Given the description of an element on the screen output the (x, y) to click on. 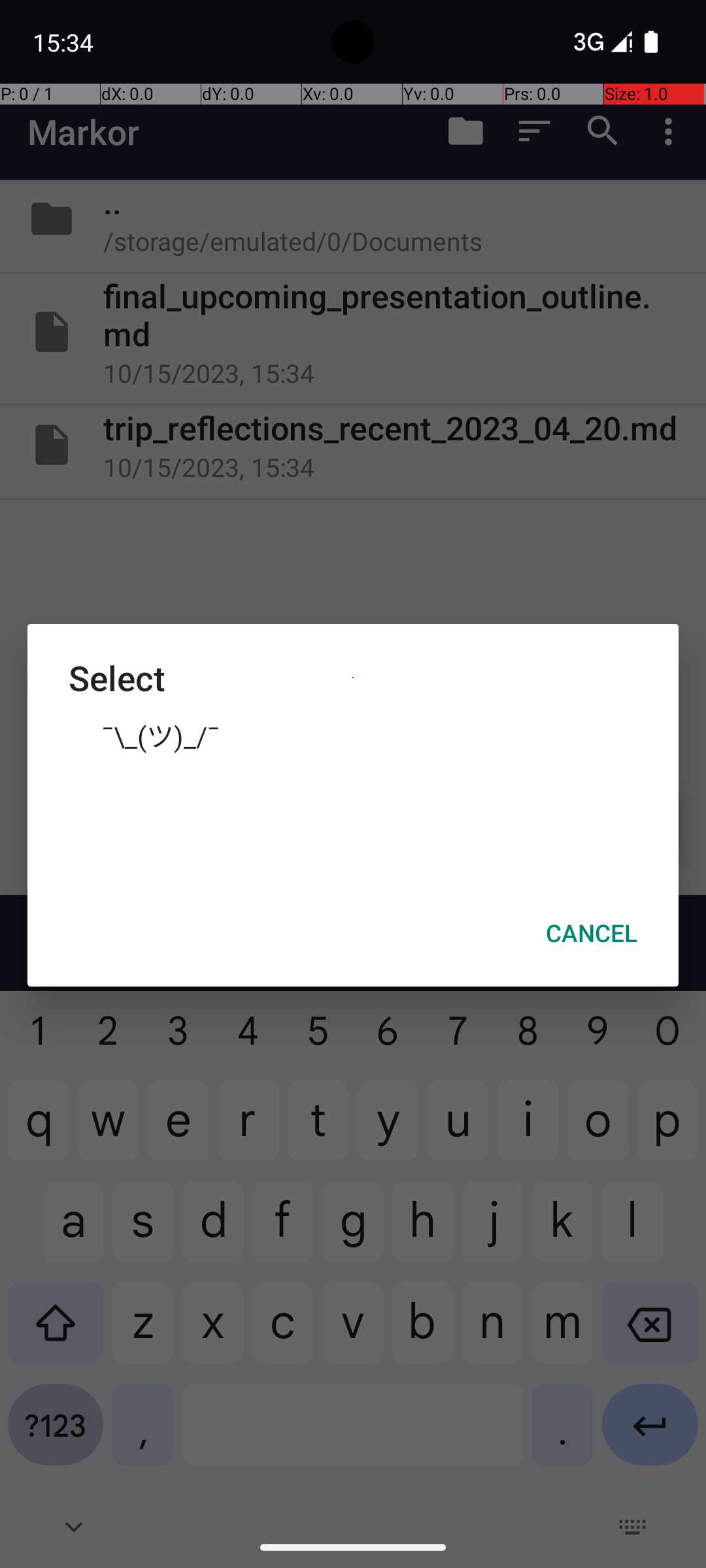
Select Element type: android.widget.TextView (352, 677)
     ¯\_(ツ)_/¯      Element type: android.widget.TextView (352, 734)
